Given the description of an element on the screen output the (x, y) to click on. 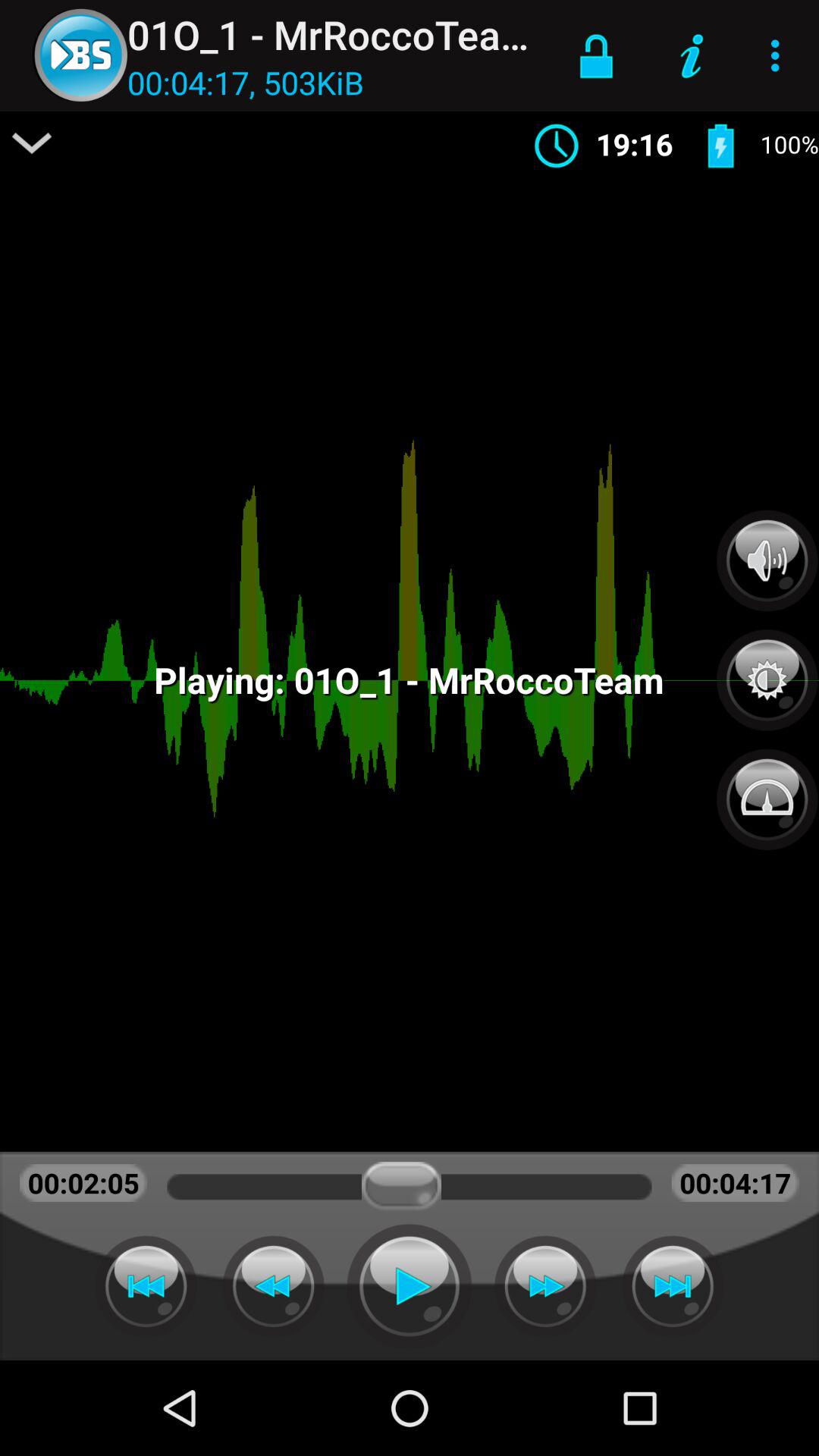
go to beginning (145, 1286)
